Given the description of an element on the screen output the (x, y) to click on. 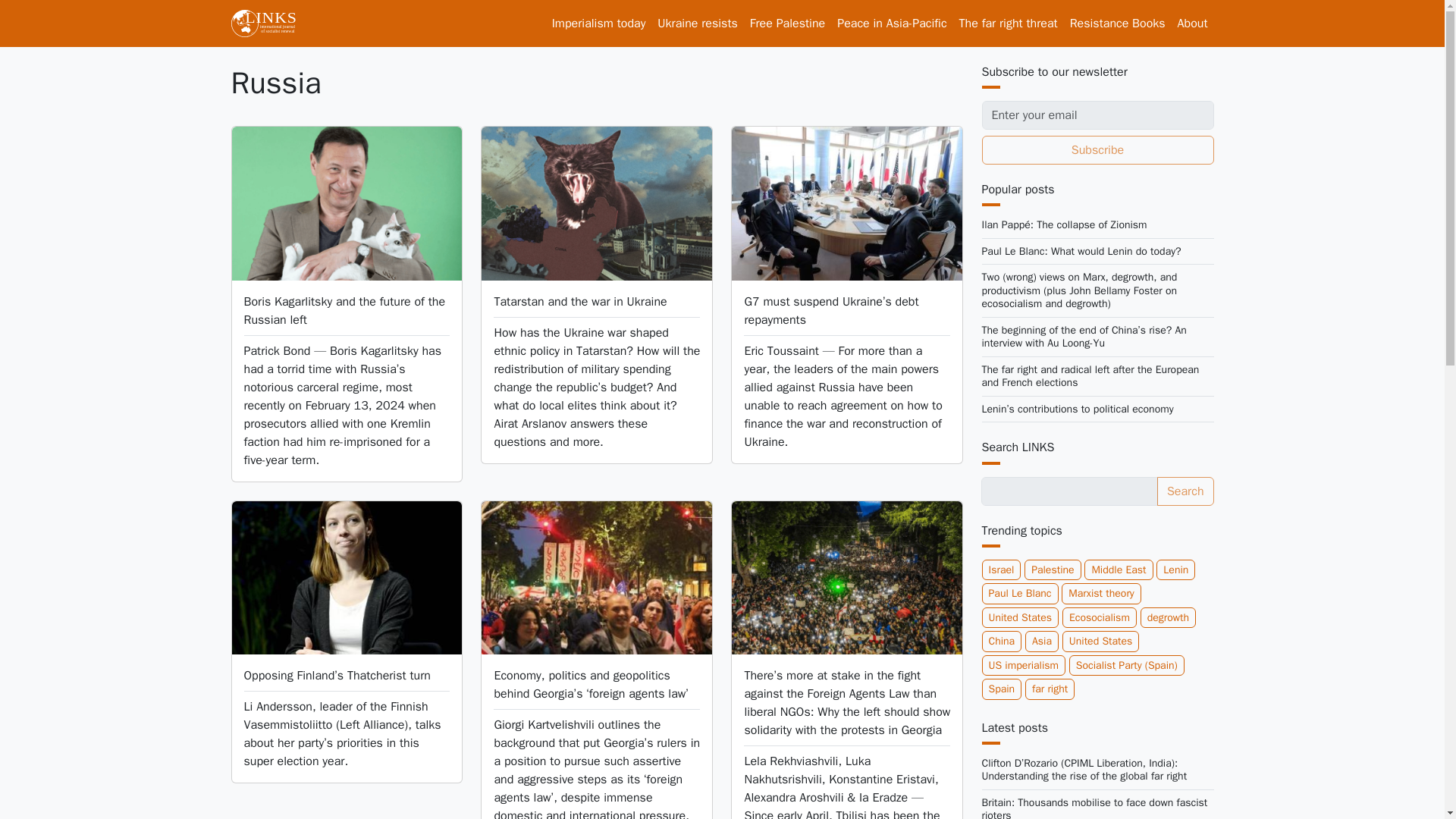
Peace in Asia-Pacific (891, 23)
Enter the terms you wish to search for. (1069, 491)
Imperialism today (599, 23)
Resistance Books (1118, 23)
Subscribe (1096, 149)
The far right threat (1008, 23)
About (1193, 23)
Tatarstan and the war in Ukraine (579, 301)
About (1193, 23)
Ukraine resists (696, 23)
